Given the description of an element on the screen output the (x, y) to click on. 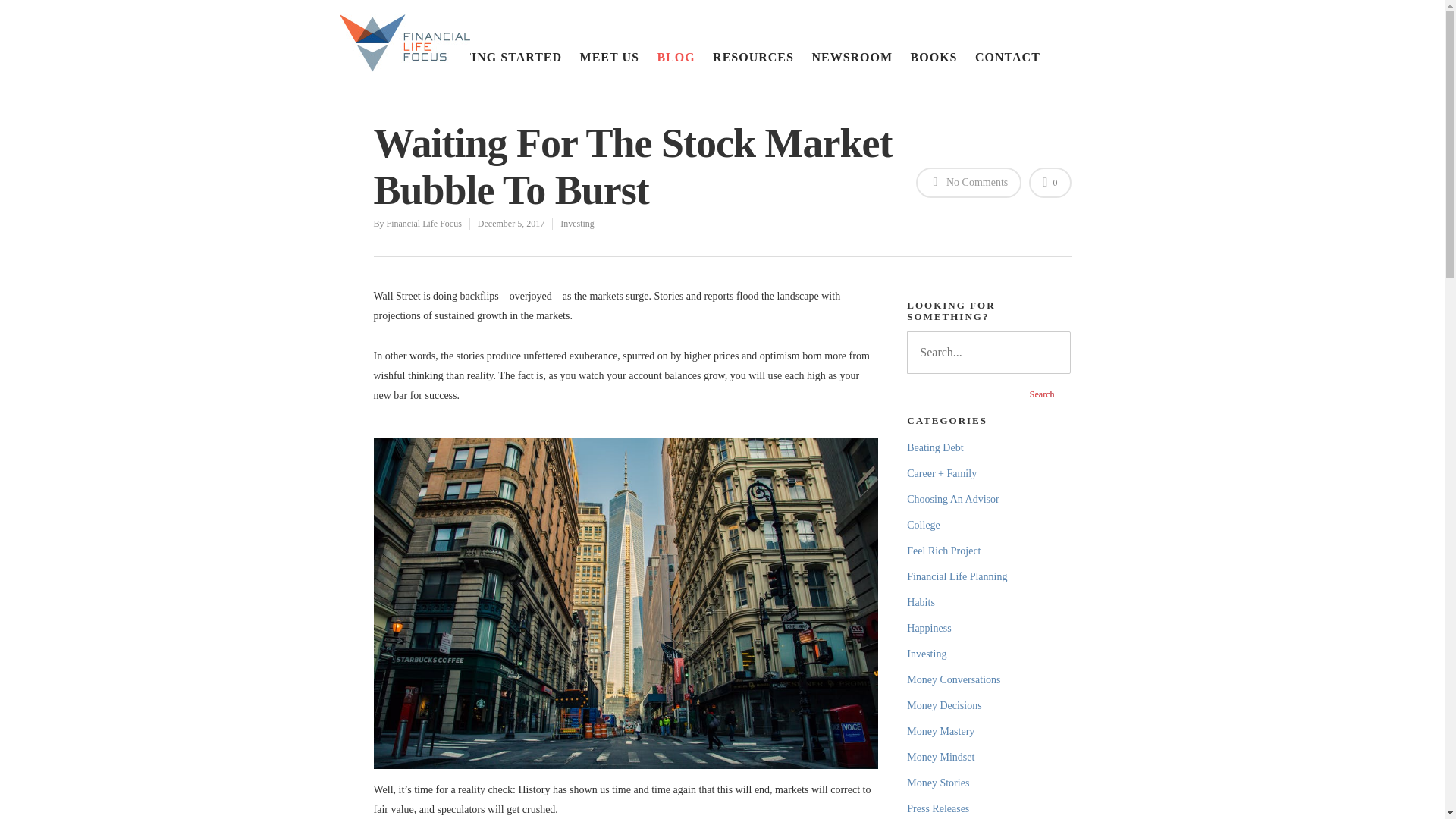
NEWSROOM (851, 57)
Habits (988, 602)
Choosing An Advisor (988, 499)
CONTACT (1008, 57)
MEET US (609, 57)
No Comments (968, 183)
0 (1049, 183)
Search (1042, 393)
Search (1042, 393)
Love this (1049, 183)
College (988, 525)
Search for: (988, 352)
Investing (577, 223)
Financial Life Focus (424, 223)
Financial Life Planning (988, 577)
